Given the description of an element on the screen output the (x, y) to click on. 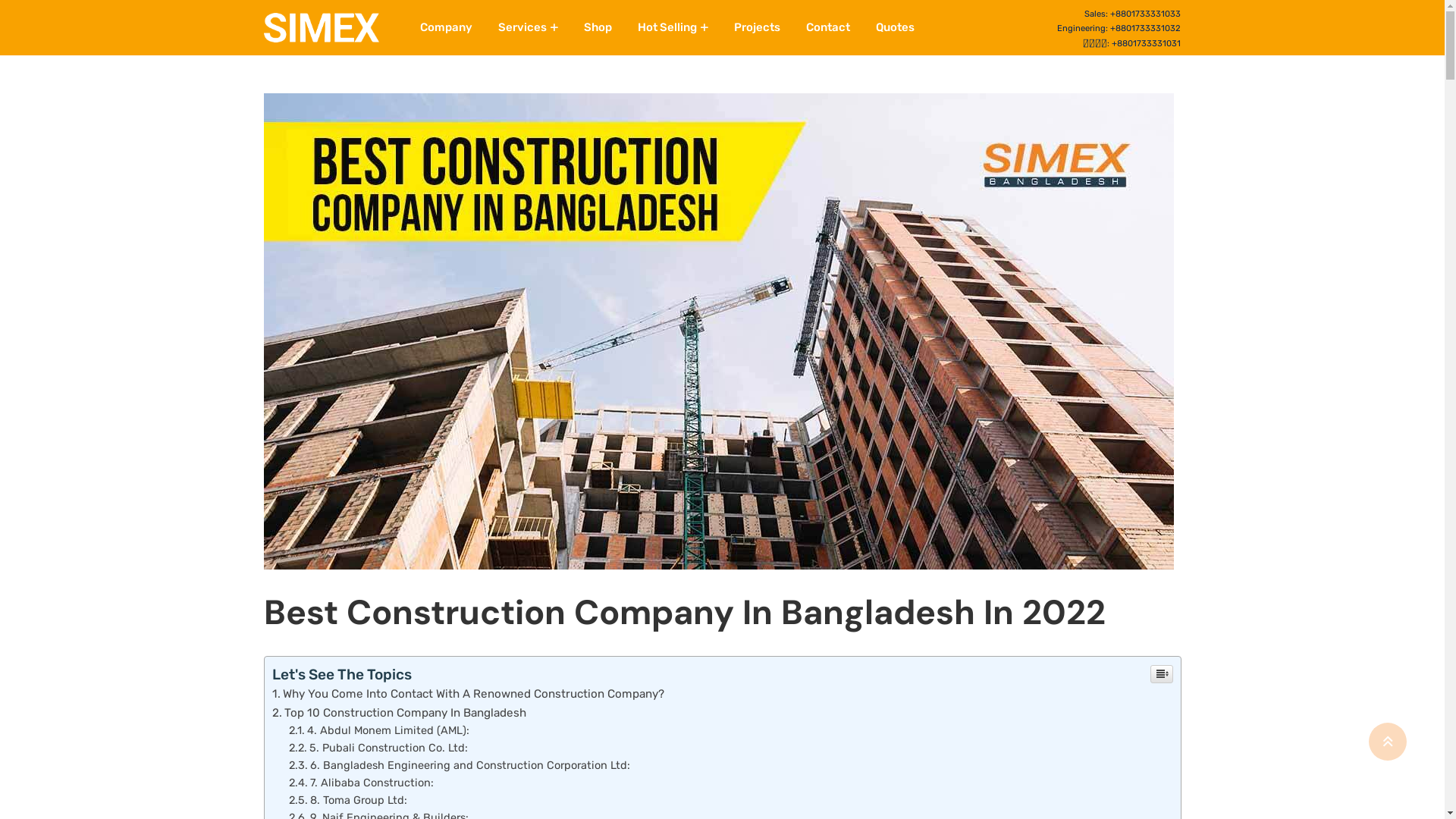
Engineering: +8801733331032 Element type: text (1118, 27)
7. Alibaba Construction: Element type: text (360, 782)
6. Bangladesh Engineering and Construction Corporation Ltd: Element type: text (459, 764)
Contact Element type: text (828, 27)
Shop Element type: text (597, 27)
Sales: +8801733331033 Element type: text (1132, 12)
Projects Element type: text (757, 27)
Hot Selling Element type: text (672, 27)
8. Toma Group Ltd: Element type: text (347, 799)
Company Element type: text (446, 27)
Services Element type: text (528, 27)
Top 10 Construction Company In Bangladesh Element type: text (398, 712)
4. Abdul Monem Limited (AML): Element type: text (378, 730)
Quotes Element type: text (894, 27)
5. Pubali Construction Co. Ltd: Element type: text (377, 747)
